Given the description of an element on the screen output the (x, y) to click on. 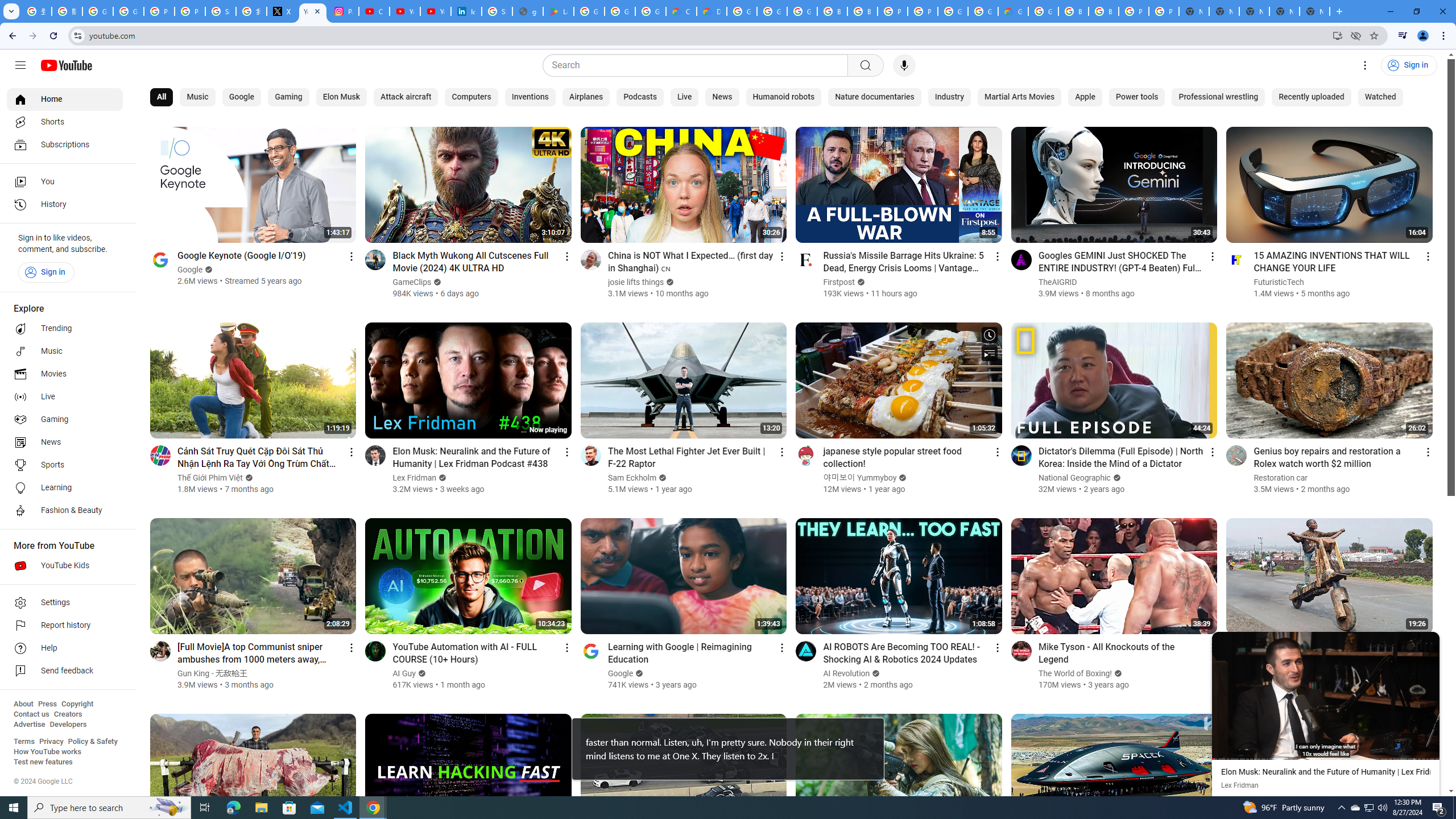
Terms (23, 741)
Podcasts (639, 97)
Sports (64, 464)
Privacy (51, 741)
Live (683, 97)
TEKNIQ (1267, 661)
Apple (1085, 97)
Customer Care | Google Cloud (681, 11)
Address and search bar (707, 35)
Elon Musk (340, 97)
Attack aircraft (406, 97)
